Given the description of an element on the screen output the (x, y) to click on. 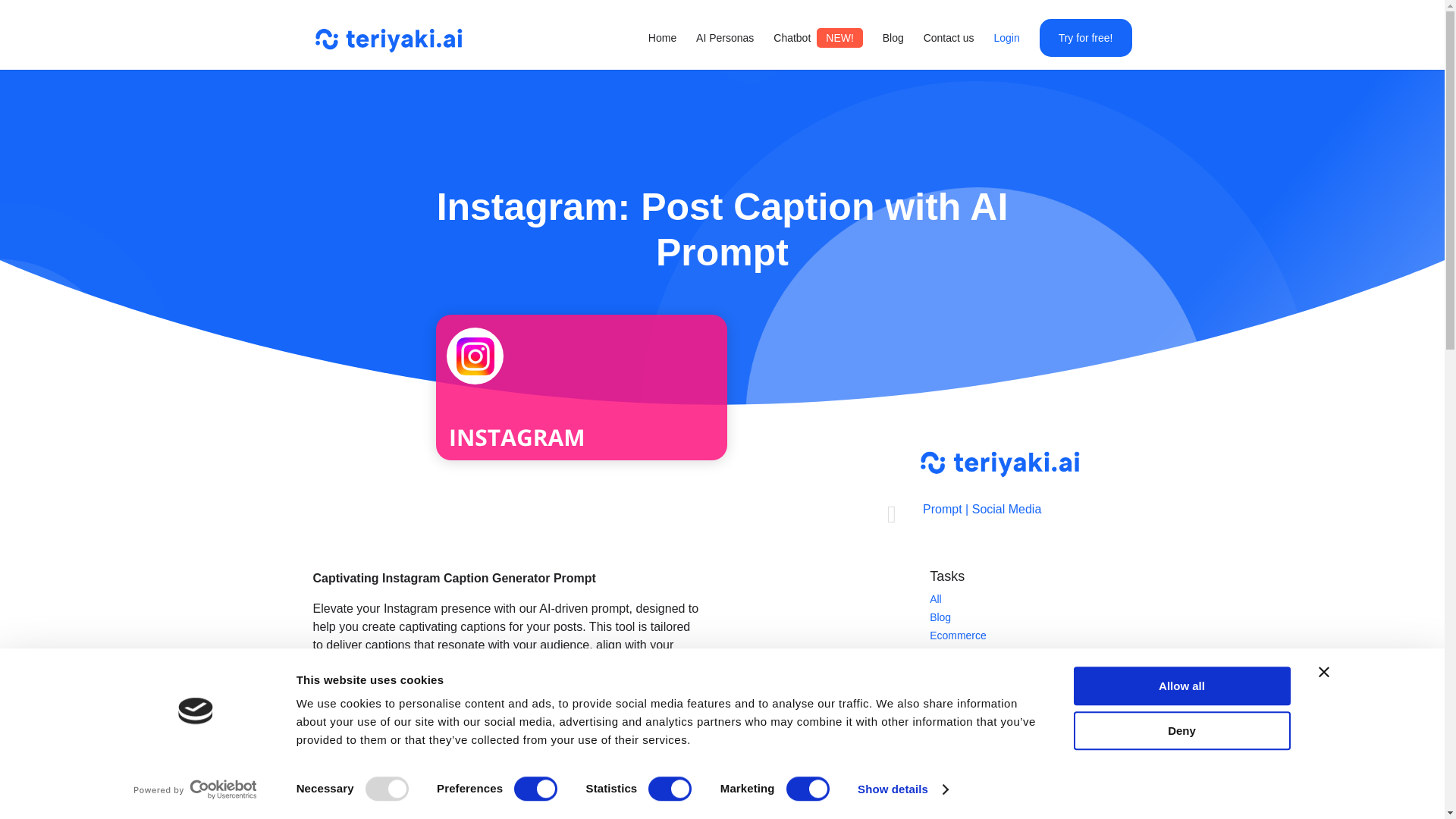
Allow all (1182, 685)
Contact us (948, 47)
AI Personas (724, 47)
Chatbot (818, 47)
instagram-ai (580, 387)
Try for free! (1085, 37)
Home (662, 47)
Show details (902, 789)
logo teriyaki-blue (1000, 462)
Deny (1182, 730)
